Given the description of an element on the screen output the (x, y) to click on. 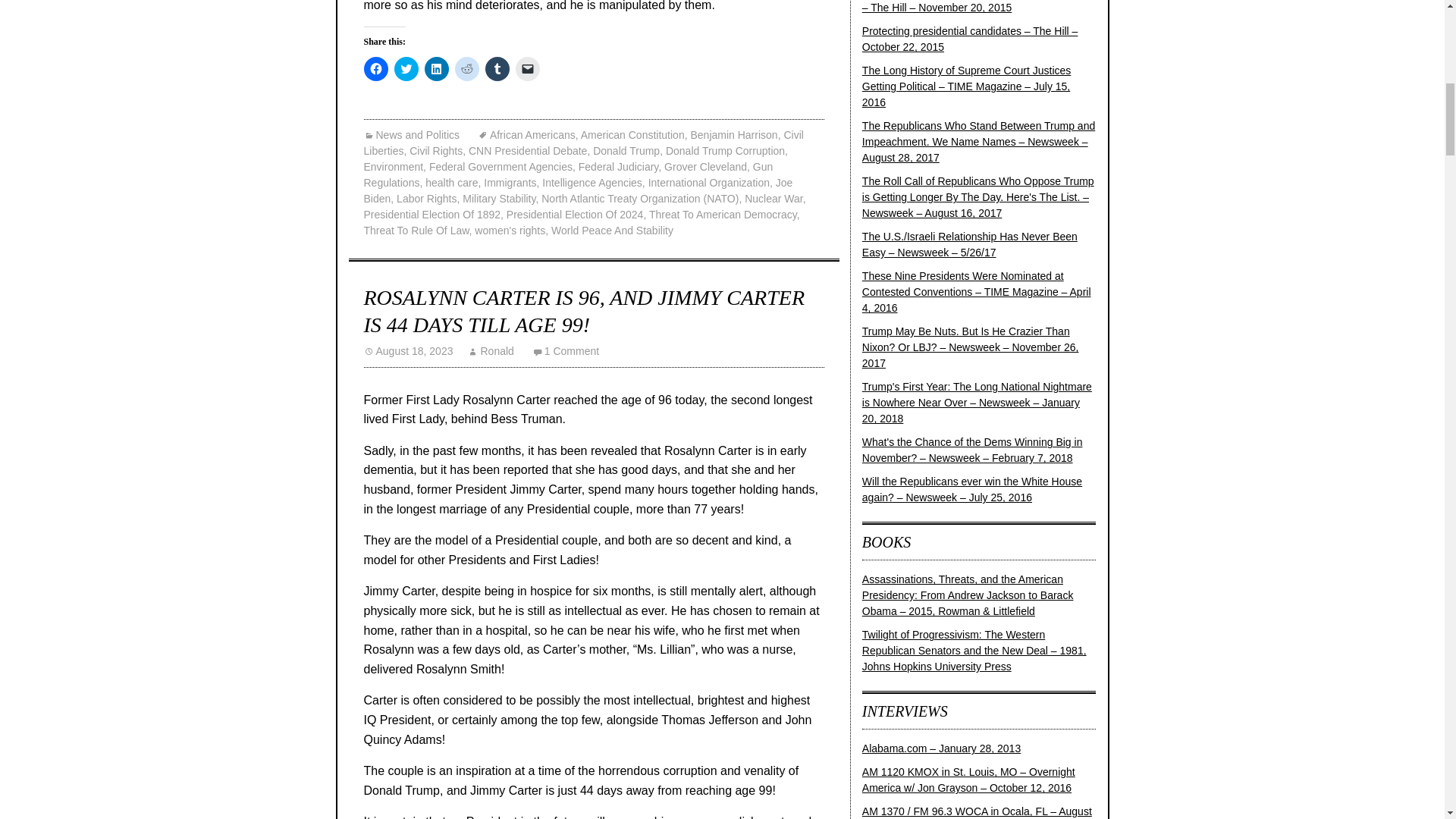
CNN Presidential Debate (527, 150)
Donald Trump Corruption (724, 150)
Federal Government Agencies (500, 166)
American Constitution (632, 134)
Click to share on LinkedIn (436, 68)
Click to share on Twitter (406, 68)
Click to share on Reddit (466, 68)
Federal Judiciary (618, 166)
African Americans (526, 134)
Labor Rights (426, 198)
